Given the description of an element on the screen output the (x, y) to click on. 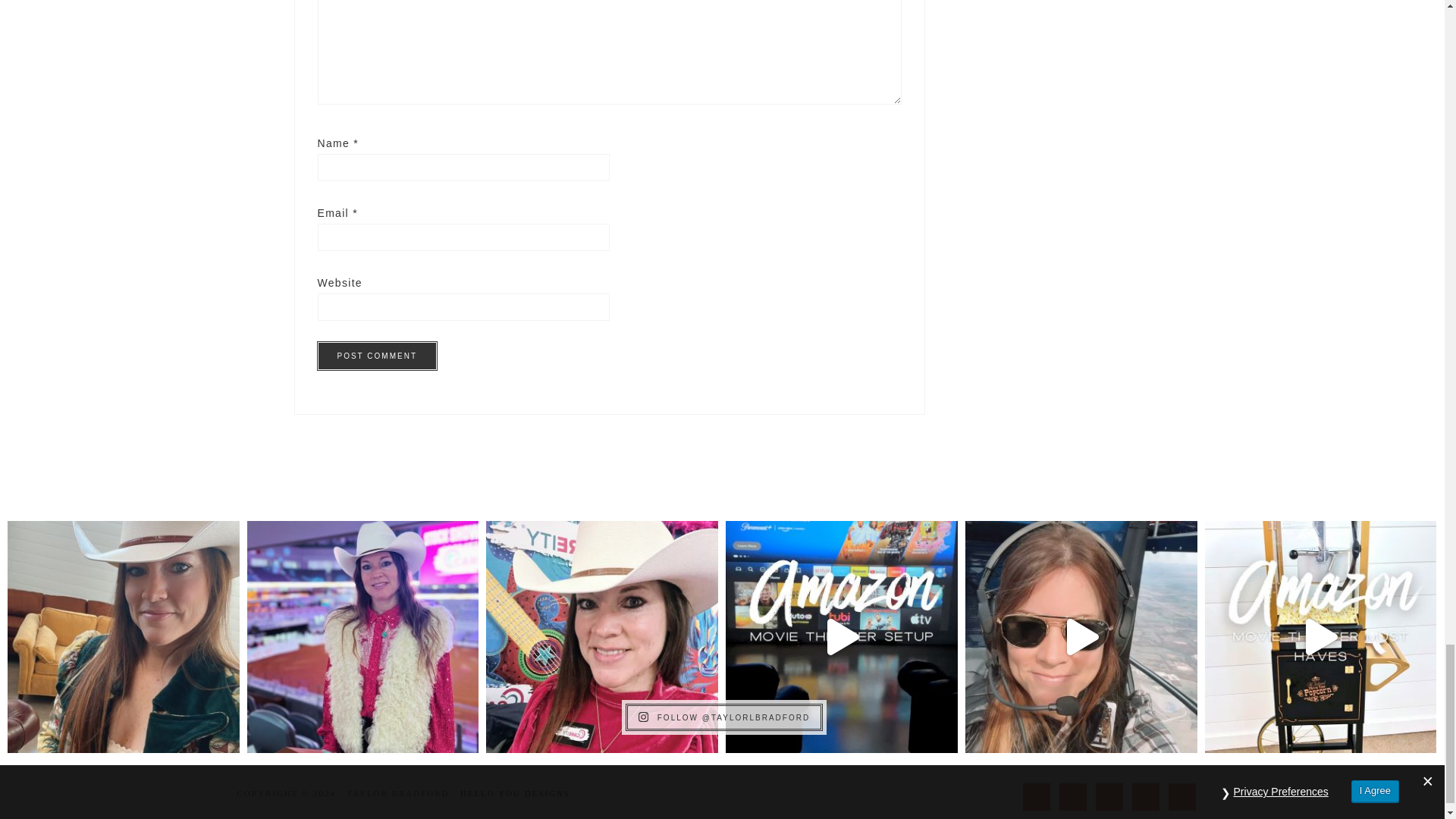
Post Comment (376, 356)
